Given the description of an element on the screen output the (x, y) to click on. 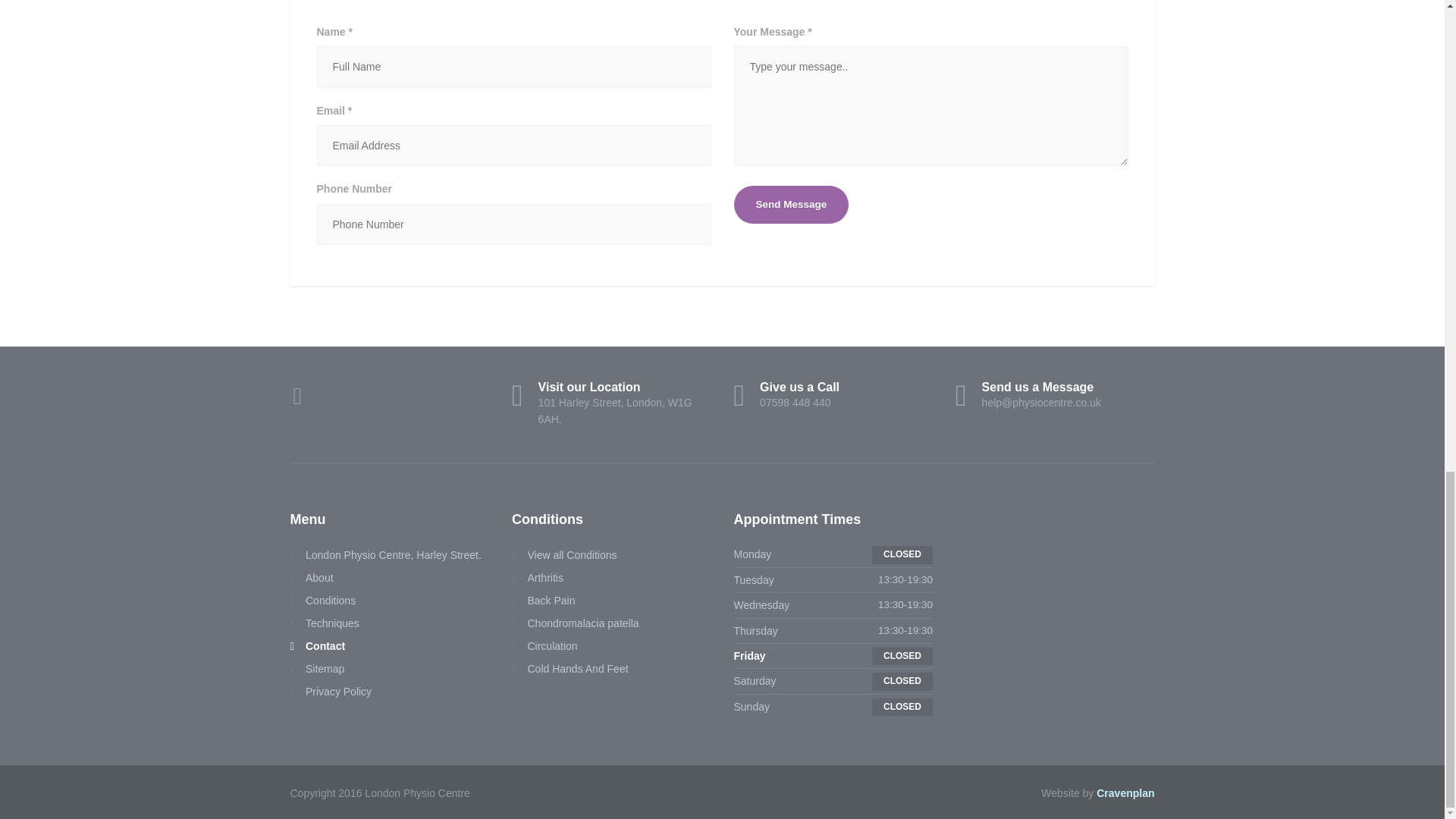
Circulation (545, 646)
Contact (833, 395)
Sitemap (317, 646)
About (316, 669)
Send Message (311, 577)
Conditions (790, 204)
Techniques (322, 600)
Back Pain (323, 623)
Chondromalacia patella (543, 600)
